Given the description of an element on the screen output the (x, y) to click on. 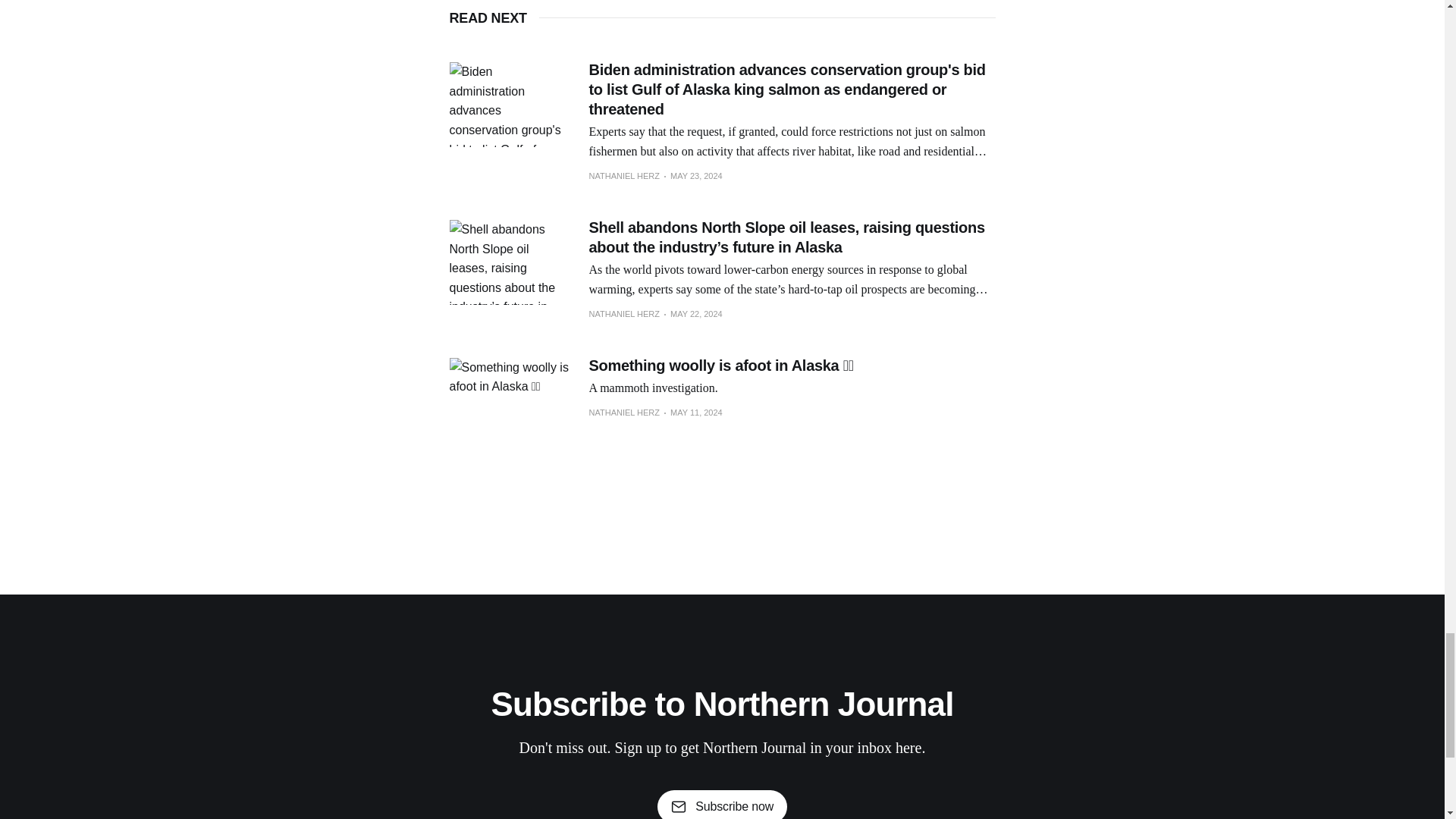
Subscribe now (722, 804)
